Given the description of an element on the screen output the (x, y) to click on. 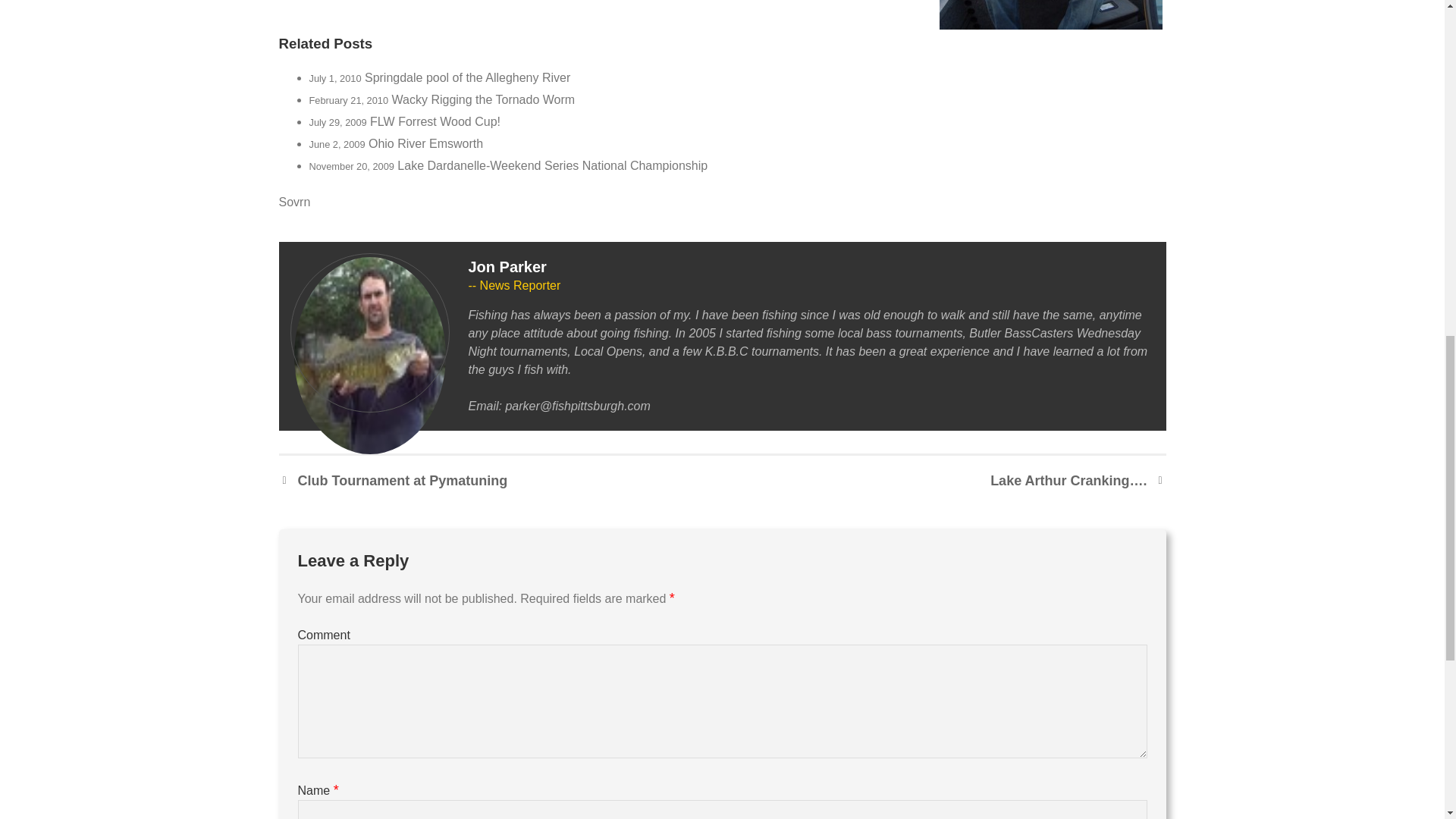
Posts by Jon Parker (507, 266)
